Given the description of an element on the screen output the (x, y) to click on. 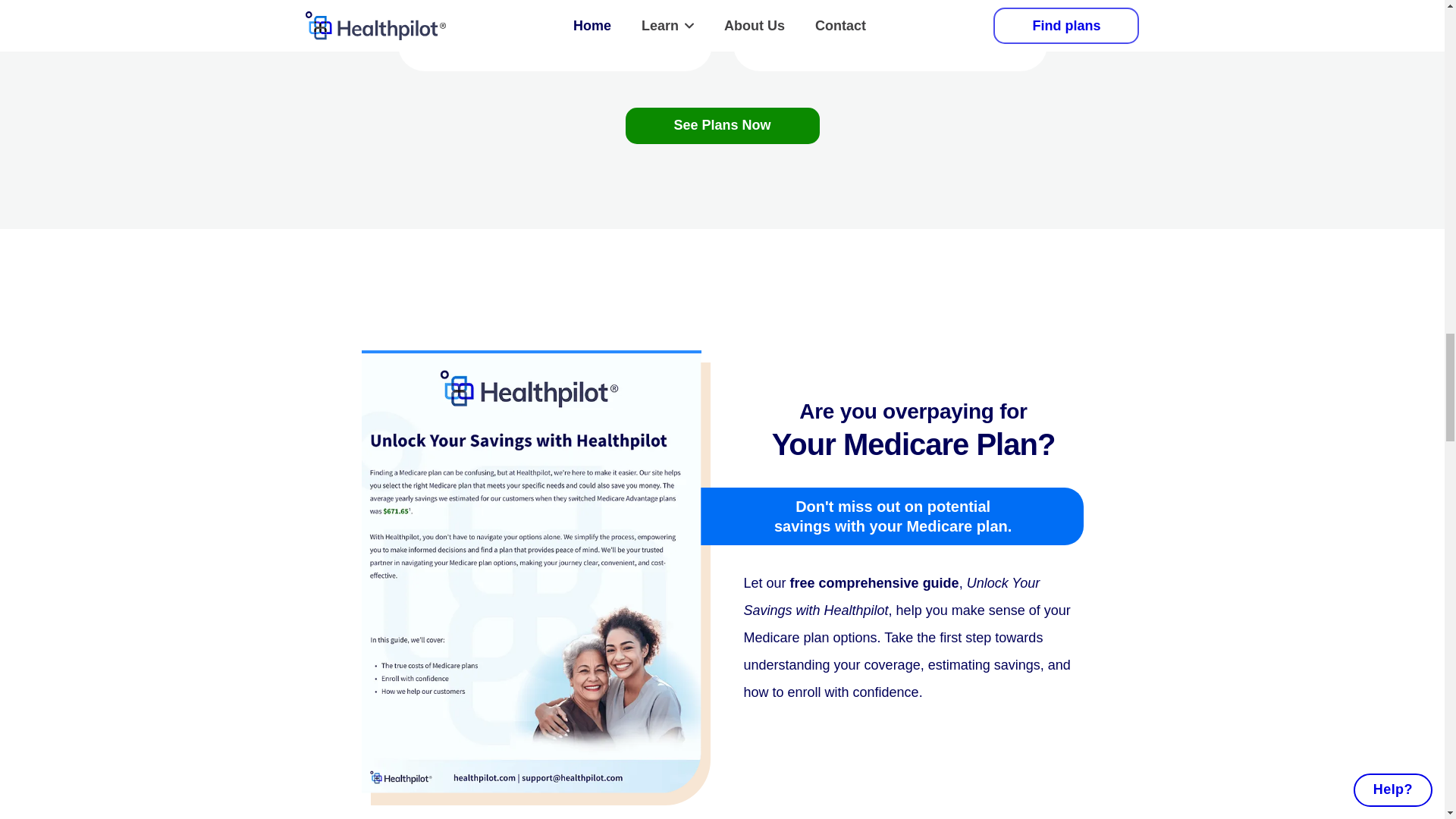
See Plans Now (721, 125)
